Given the description of an element on the screen output the (x, y) to click on. 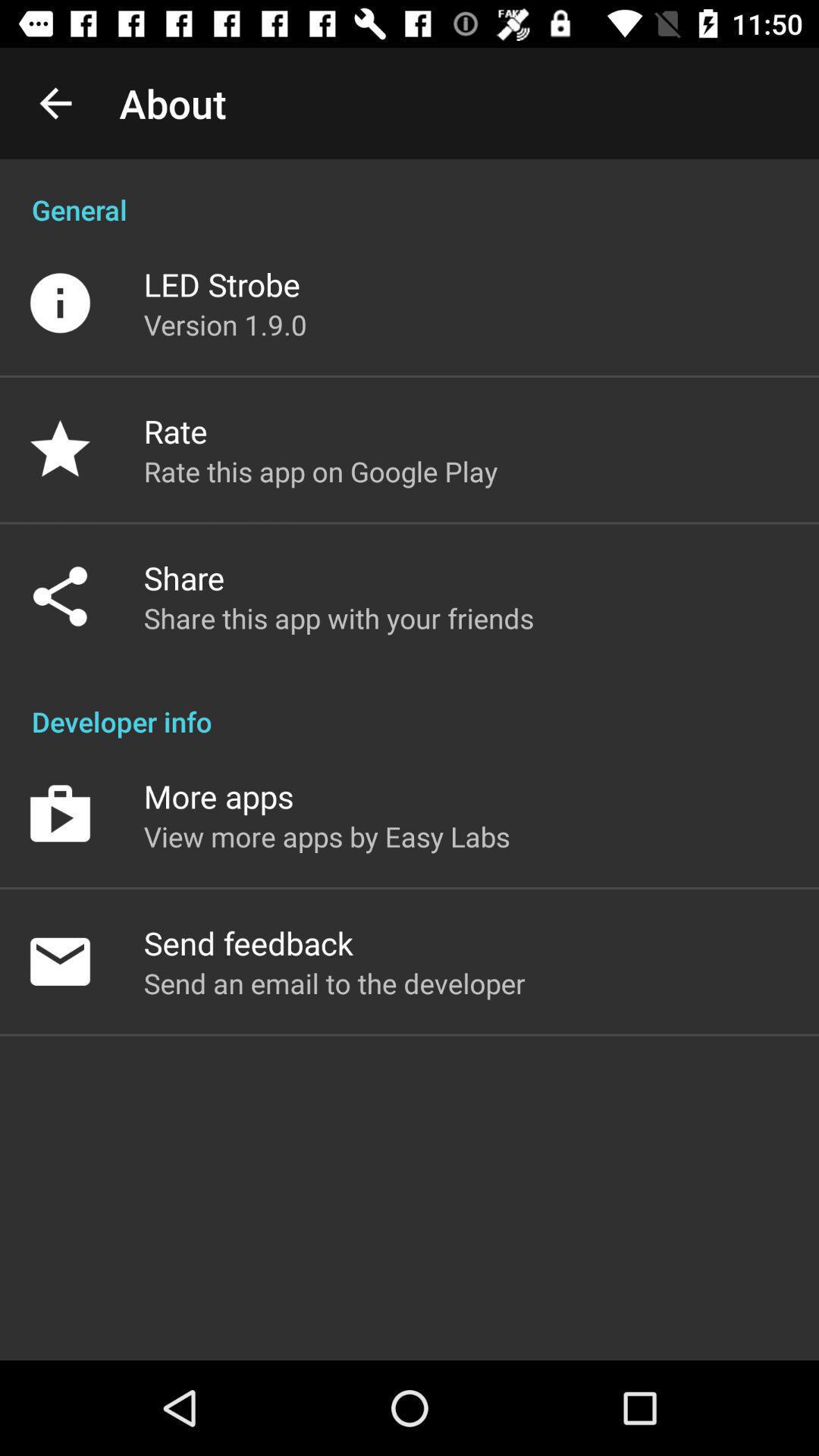
return arrow (55, 103)
